Given the description of an element on the screen output the (x, y) to click on. 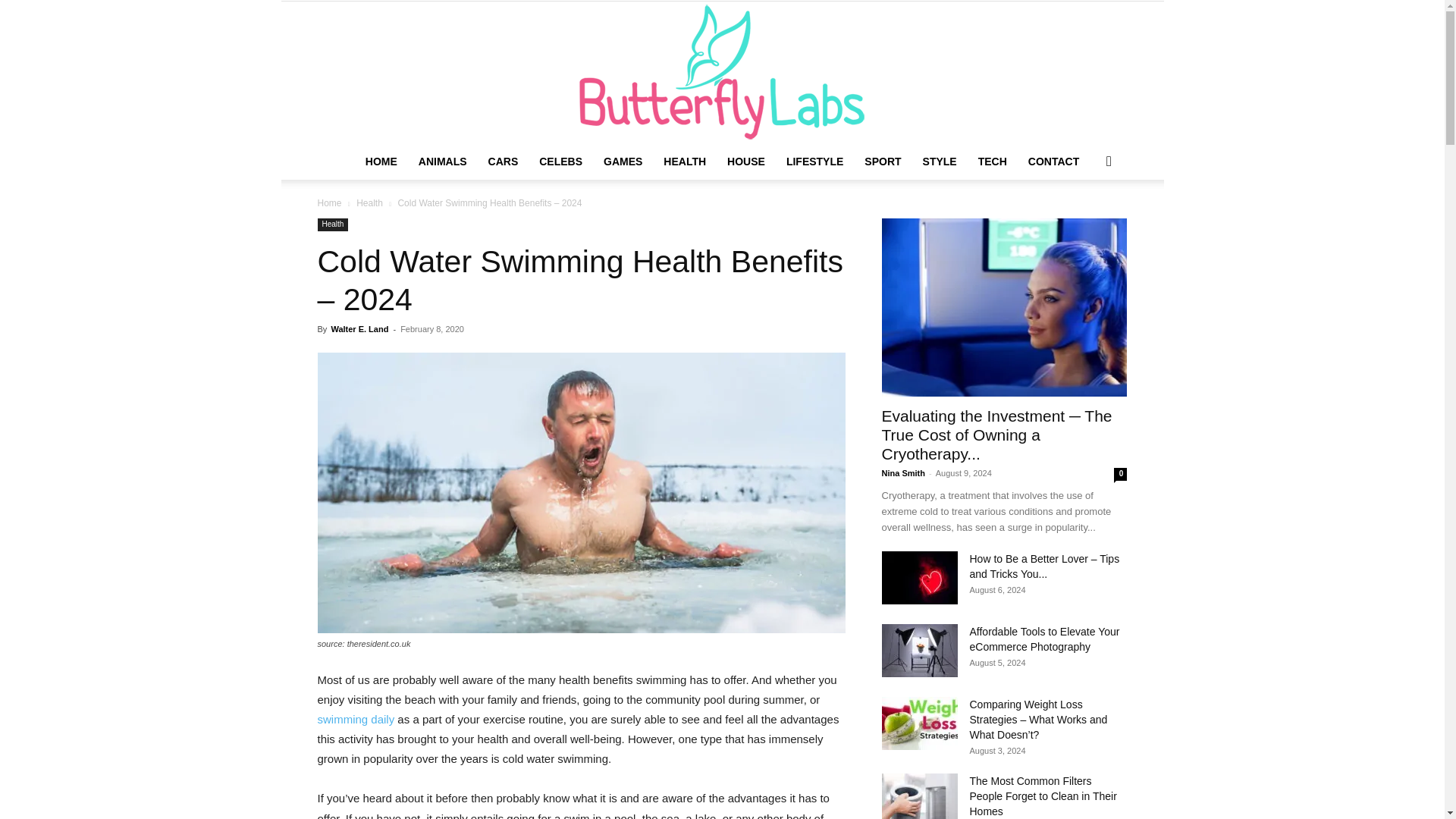
Health (332, 224)
Health (369, 203)
HEALTH (684, 161)
TECH (992, 161)
CONTACT (1053, 161)
CARS (503, 161)
Search (1085, 221)
Butterfly Labs (722, 72)
ANIMALS (442, 161)
